Given the description of an element on the screen output the (x, y) to click on. 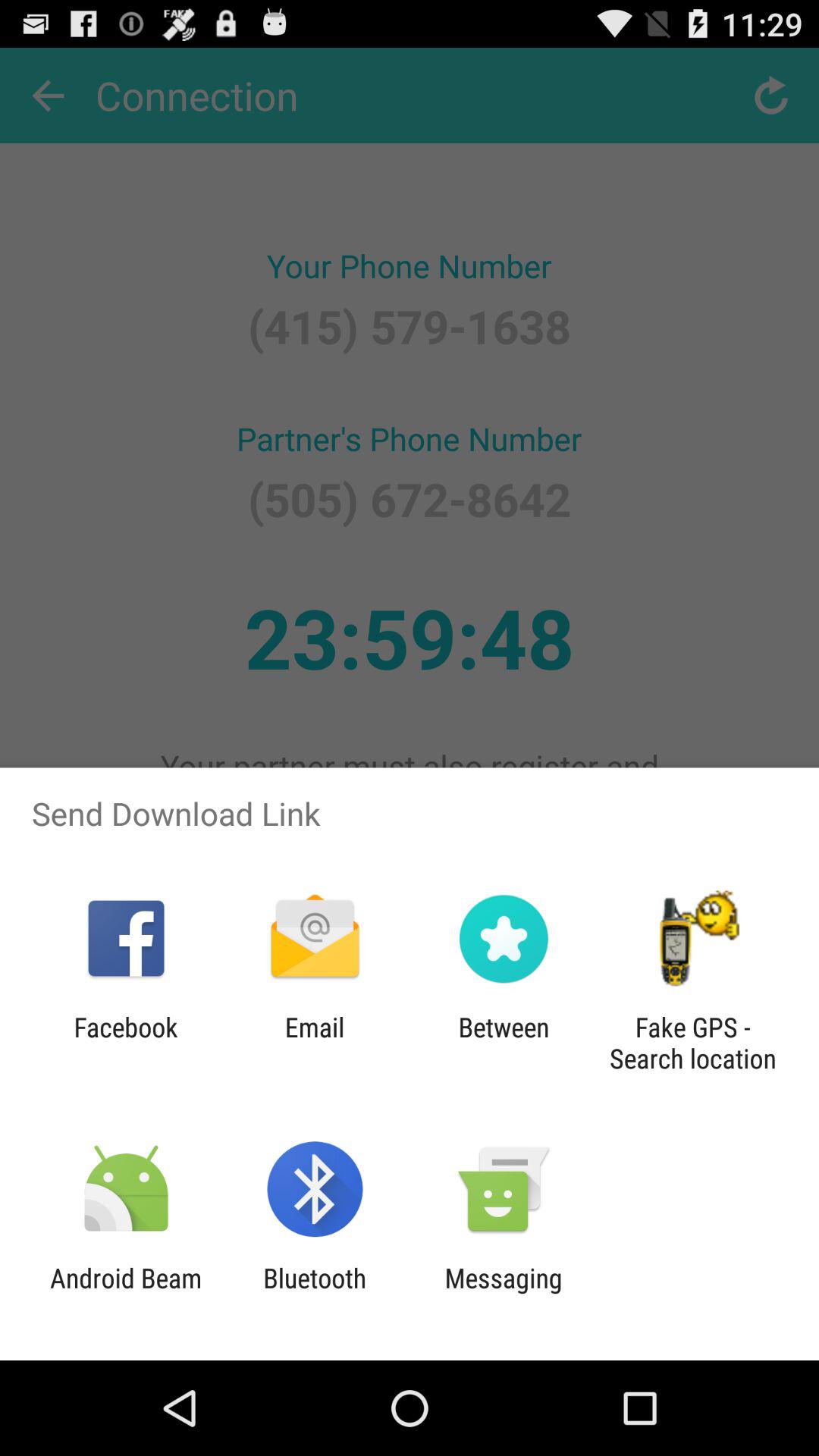
open the item next to the bluetooth (503, 1293)
